Given the description of an element on the screen output the (x, y) to click on. 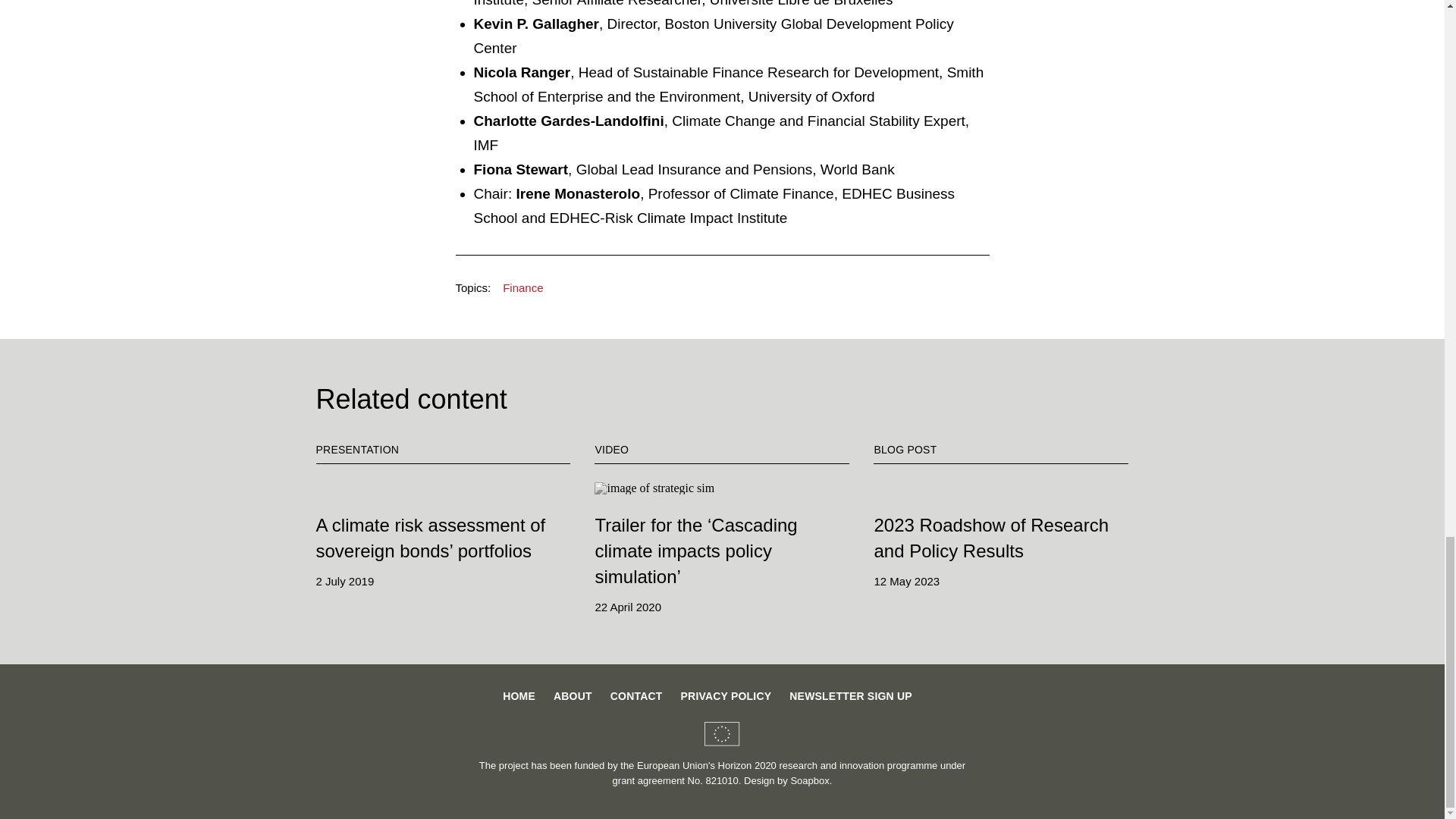
ABOUT (572, 695)
PRIVACY POLICY (726, 695)
HOME (518, 695)
CONTACT (636, 695)
Finance (522, 288)
